Given the description of an element on the screen output the (x, y) to click on. 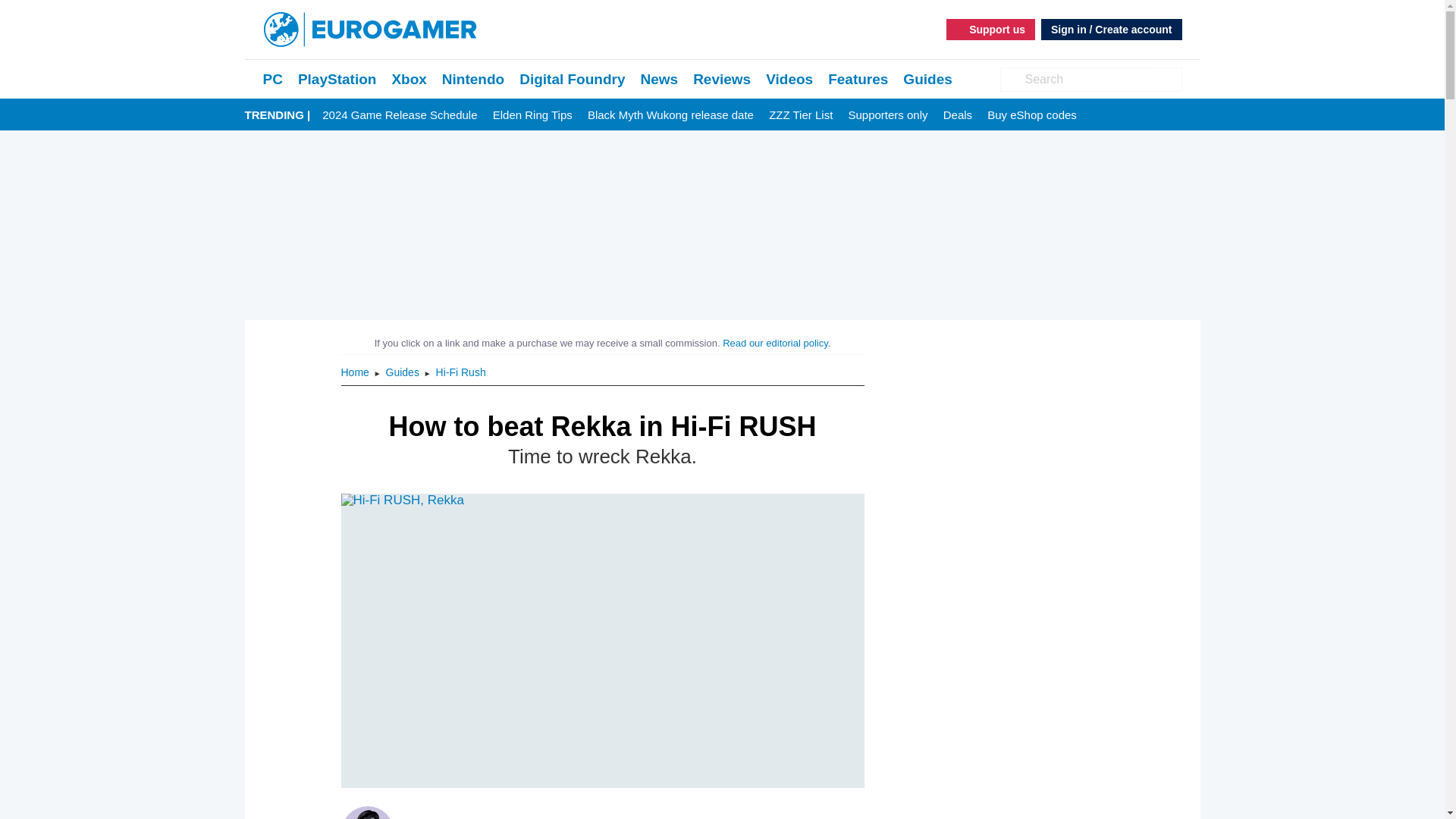
Deals (957, 114)
Supporters only (887, 114)
Marie Pritchard (495, 818)
PlayStation (336, 78)
Read our editorial policy (775, 342)
Guides (403, 372)
2024 Game Release Schedule (399, 114)
News (659, 78)
Guides (927, 78)
Features (858, 78)
